Given the description of an element on the screen output the (x, y) to click on. 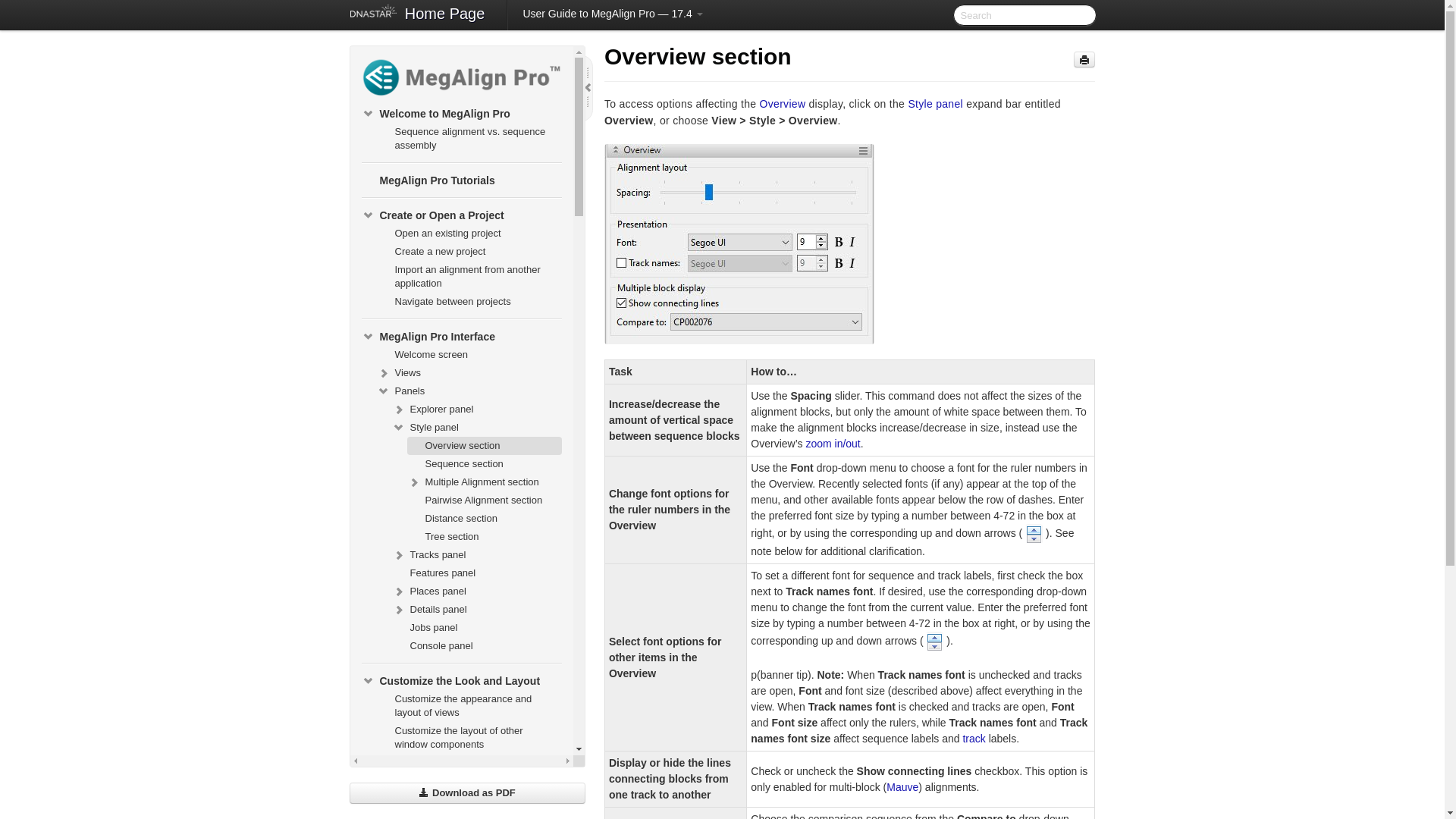
Home Page (445, 15)
Search (1024, 14)
Print page (1084, 59)
